Given the description of an element on the screen output the (x, y) to click on. 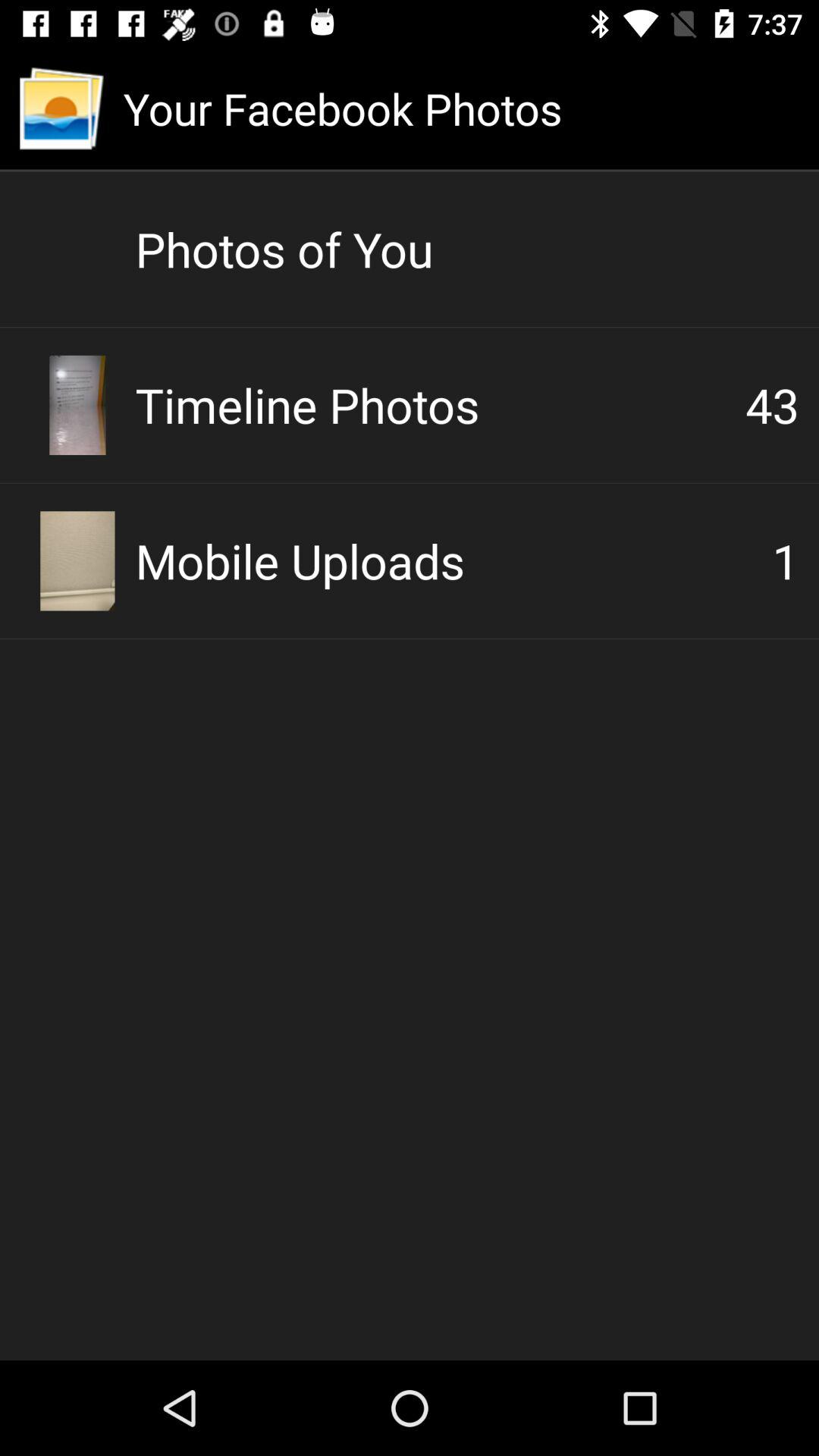
turn on the app to the right of timeline photos app (772, 404)
